Given the description of an element on the screen output the (x, y) to click on. 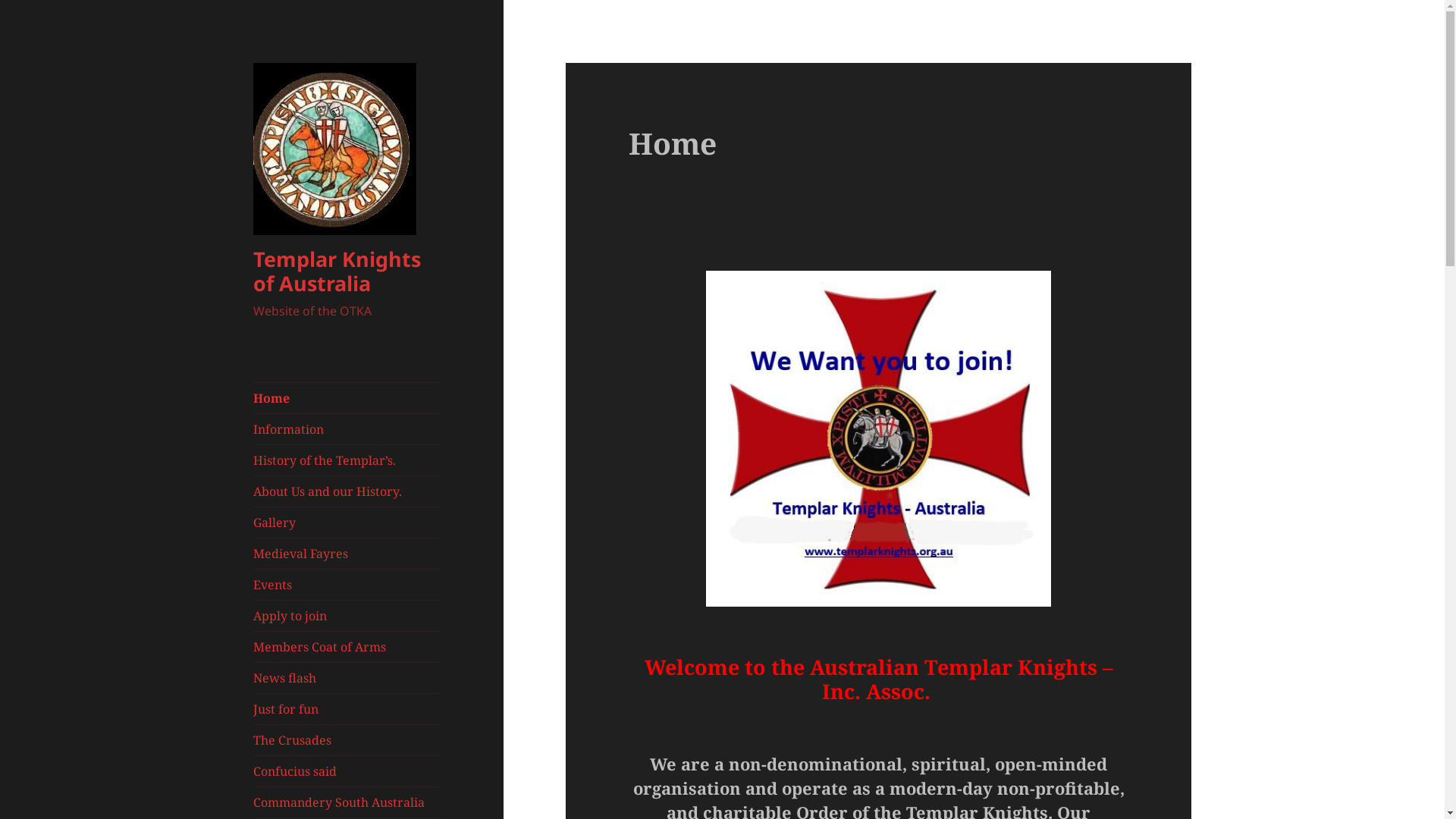
Medieval Fayres Element type: text (347, 553)
About Us and our History. Element type: text (347, 491)
Apply to join Element type: text (347, 615)
Information Element type: text (347, 429)
Gallery Element type: text (347, 522)
Events Element type: text (347, 584)
Confucius said Element type: text (347, 771)
News flash Element type: text (347, 677)
The Crusades Element type: text (347, 739)
Members Coat of Arms Element type: text (347, 646)
Home Element type: text (347, 397)
Templar Knights of Australia Element type: text (336, 270)
Just for fun Element type: text (347, 708)
Commandery South Australia Element type: text (347, 802)
